Given the description of an element on the screen output the (x, y) to click on. 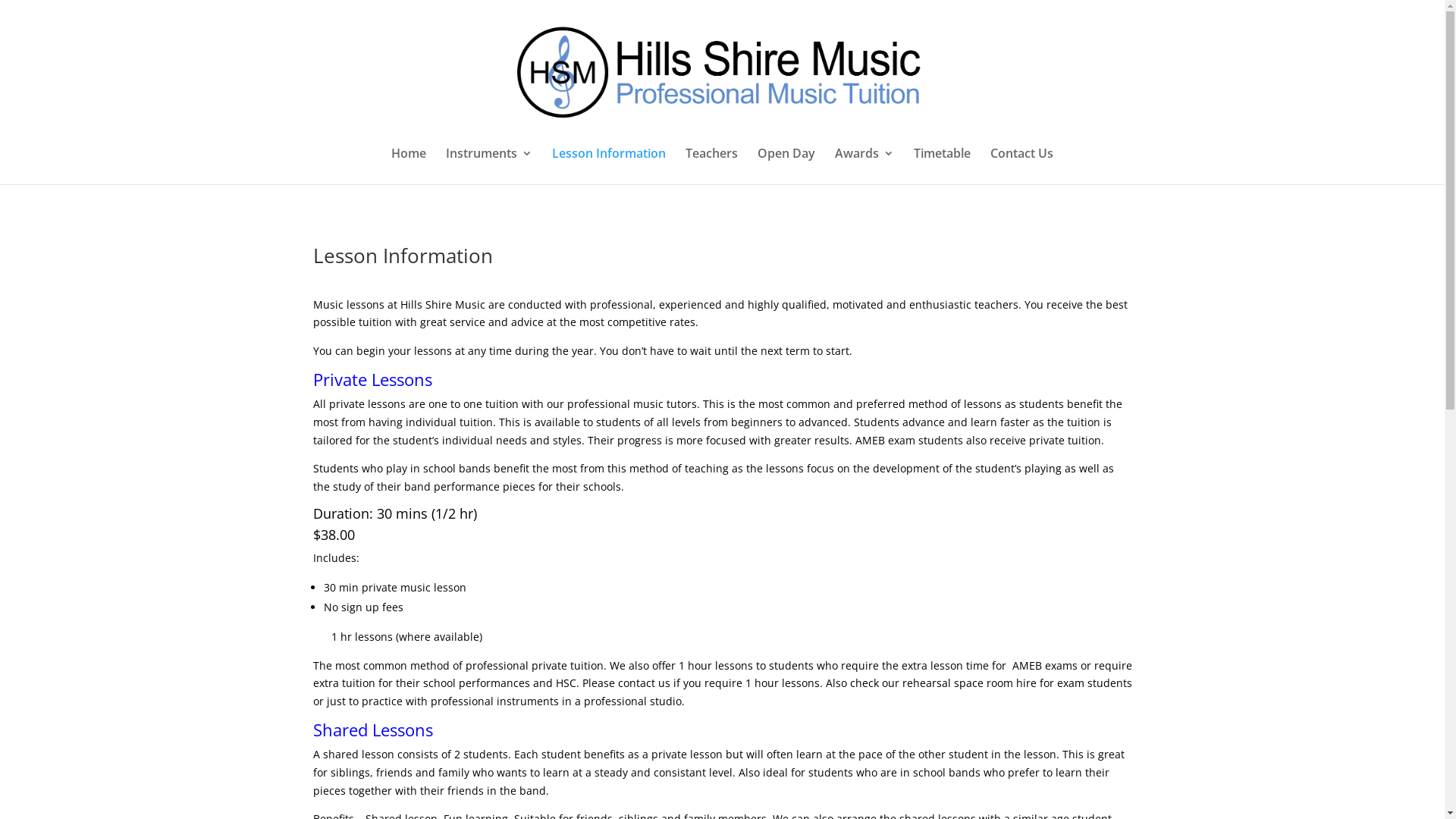
Instruments Element type: text (488, 165)
Lesson Information Element type: text (608, 165)
Home Element type: text (408, 165)
Teachers Element type: text (711, 165)
Open Day Element type: text (786, 165)
Contact Us Element type: text (1021, 165)
Timetable Element type: text (941, 165)
Awards Element type: text (864, 165)
